Given the description of an element on the screen output the (x, y) to click on. 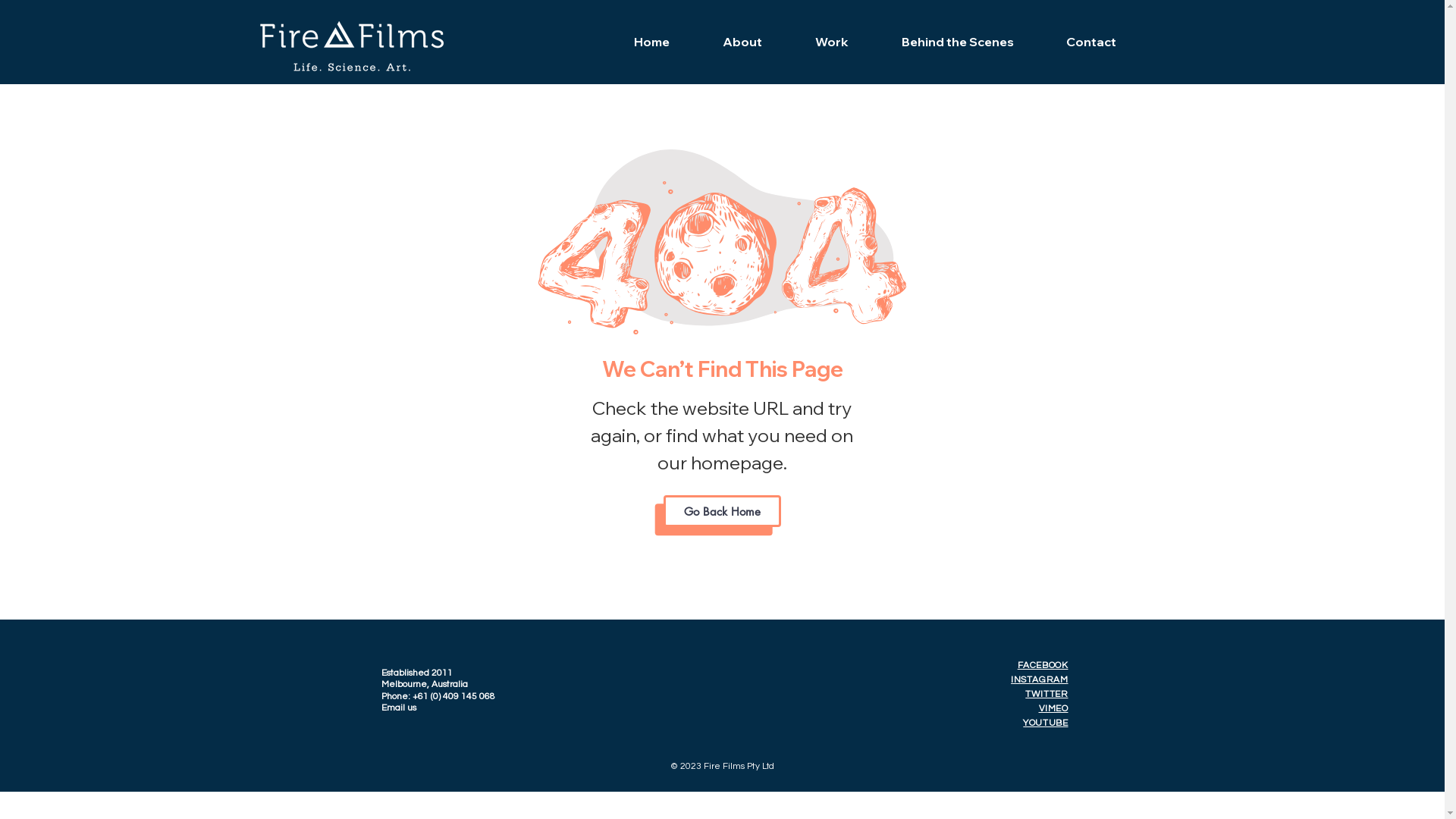
TWITTER Element type: text (1046, 694)
Contact Element type: text (1091, 41)
Behind the Scenes Element type: text (957, 41)
FACEBOOK Element type: text (1042, 665)
INSTAGRAM Element type: text (1038, 679)
Go Back Home Element type: text (721, 511)
Home Element type: text (650, 41)
YOUTUBE Element type: text (1044, 723)
Email us Element type: text (397, 707)
Work Element type: text (831, 41)
VIMEO Element type: text (1053, 708)
About Element type: text (742, 41)
